Given the description of an element on the screen output the (x, y) to click on. 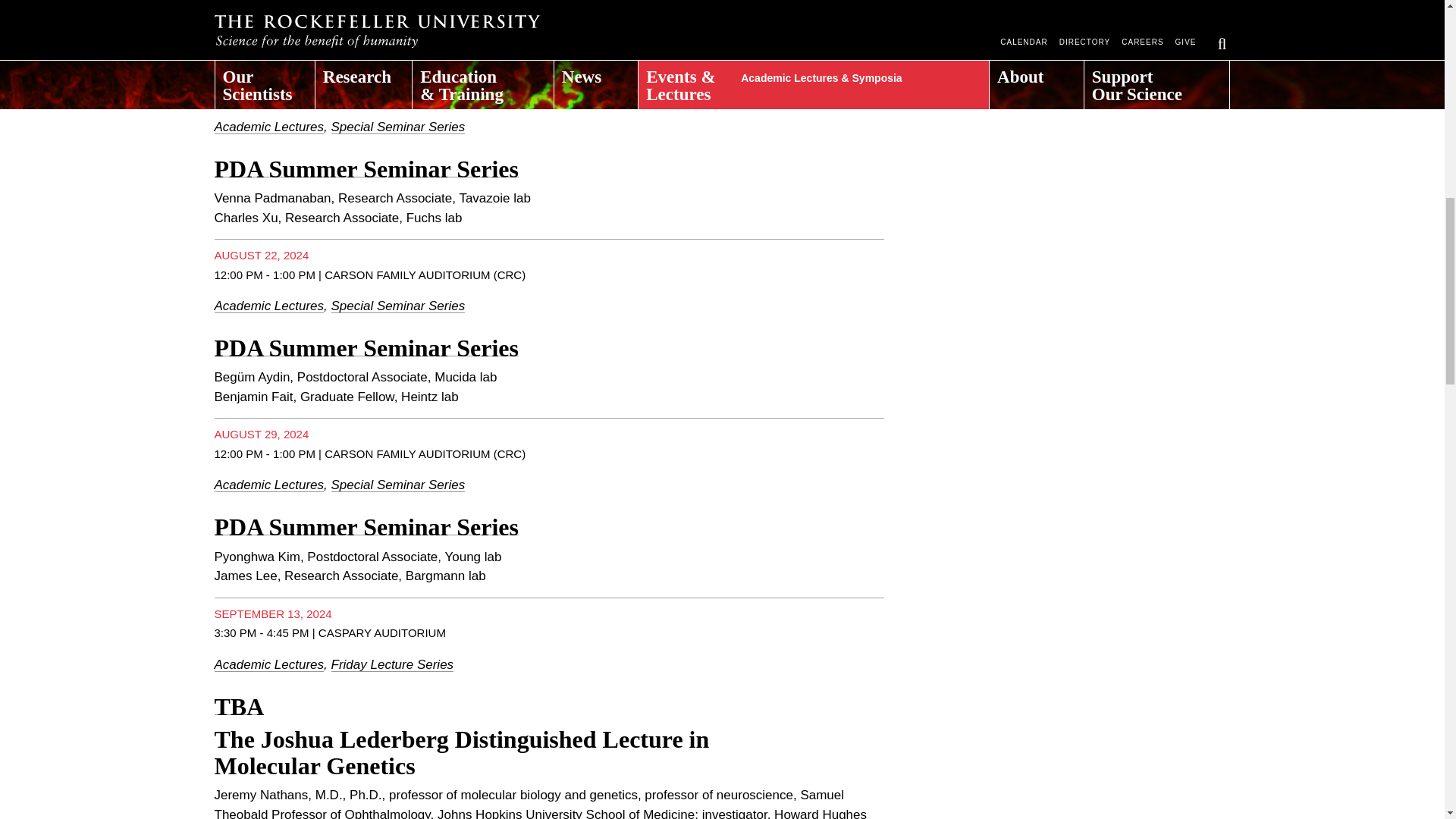
PDA Summer Seminar Series (366, 526)
PDA Summer Seminar Series (366, 168)
PDA Summer Seminar Series (366, 347)
PDA Summer Seminar Series (366, 2)
TBA (238, 706)
